Given the description of an element on the screen output the (x, y) to click on. 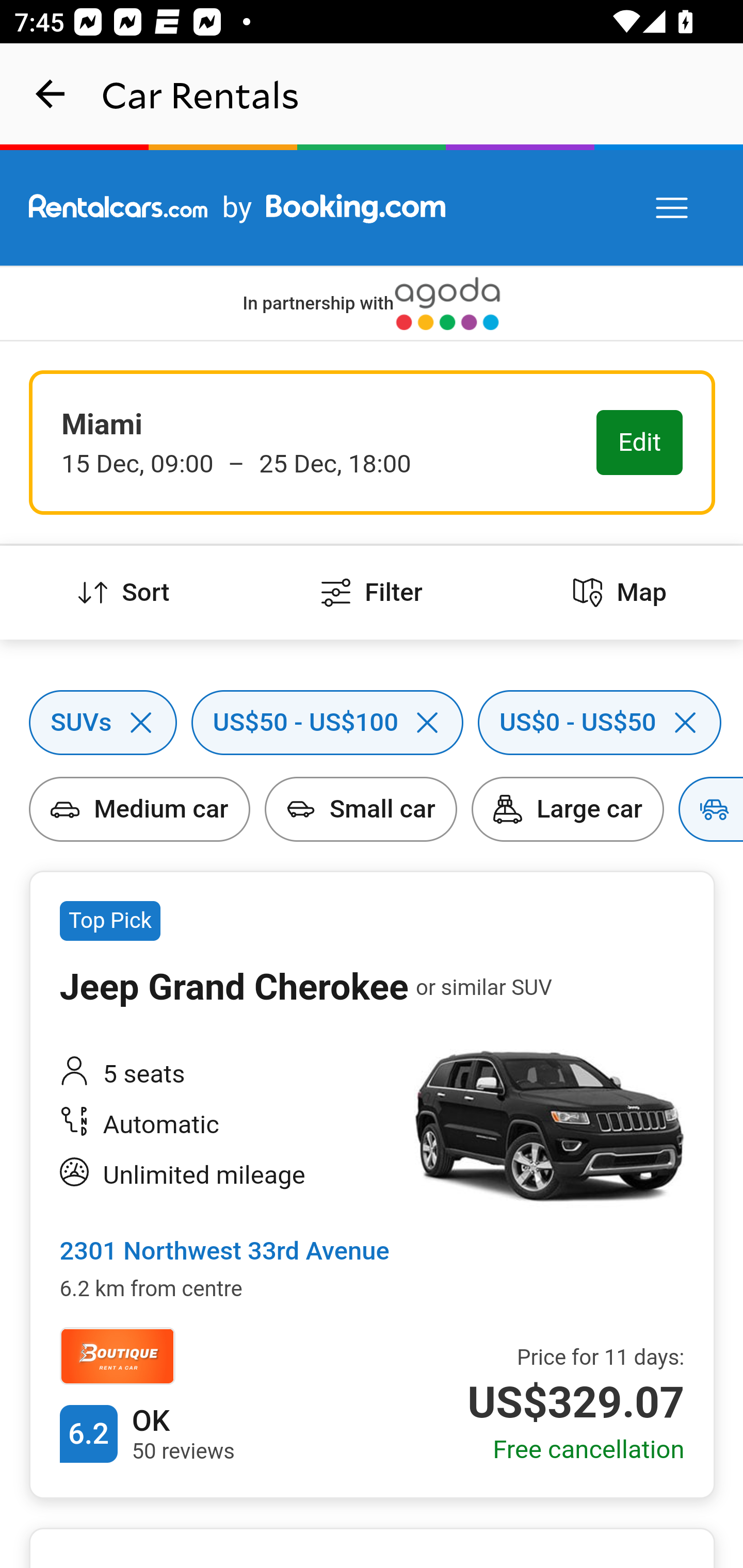
navigation_button (50, 93)
Menu (672, 208)
Edit (639, 443)
Sort (124, 592)
Filter (371, 592)
5 seats (225, 1074)
Automatic (225, 1125)
Unlimited mileage (225, 1175)
2301 Northwest 33rd Avenue (223, 1251)
6.2 6.2 OK Customer rating 6.2 OK 50 reviews (146, 1433)
